Given the description of an element on the screen output the (x, y) to click on. 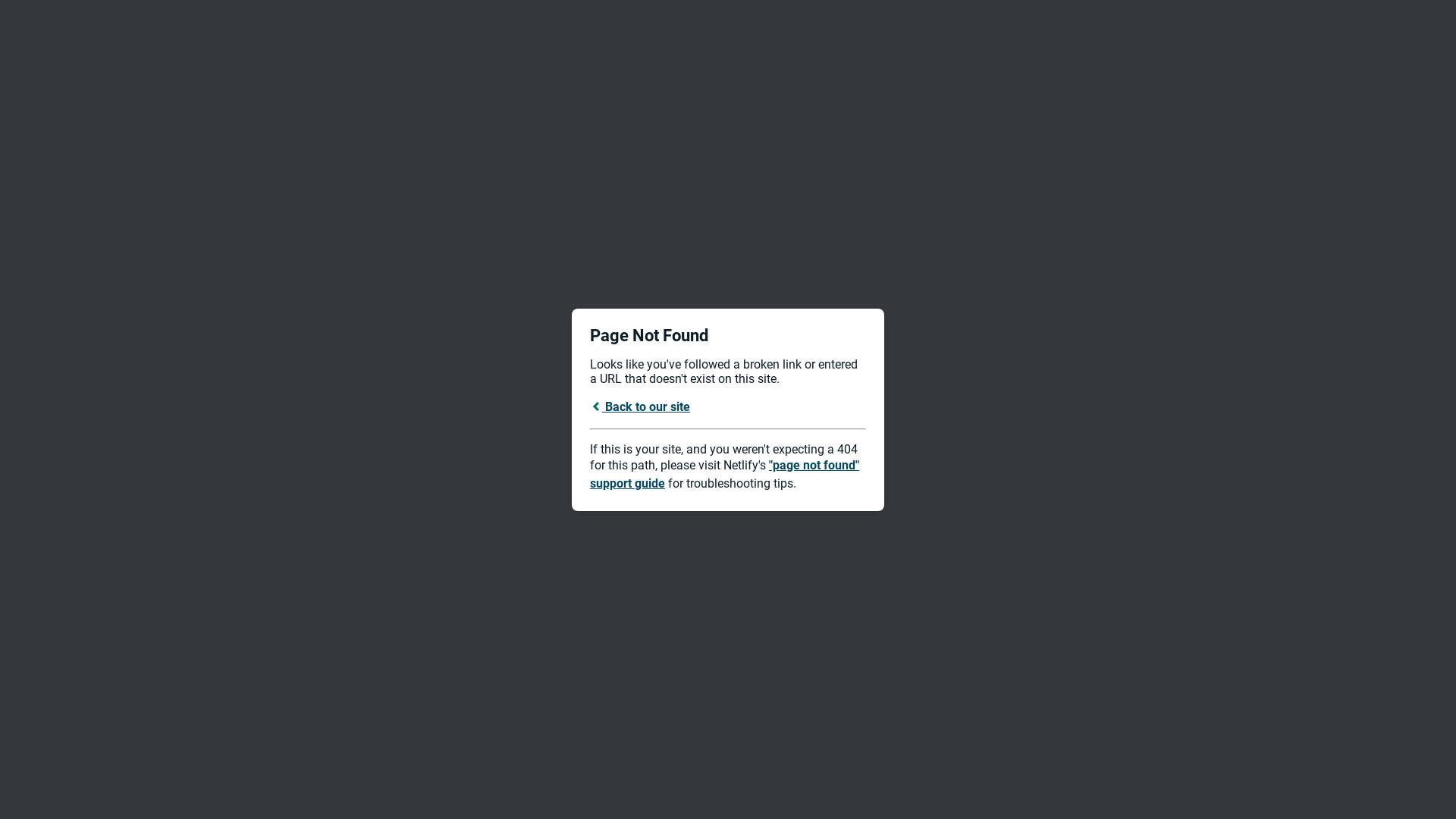
Back to our site Element type: text (639, 405)
"page not found" support guide Element type: text (724, 474)
